Given the description of an element on the screen output the (x, y) to click on. 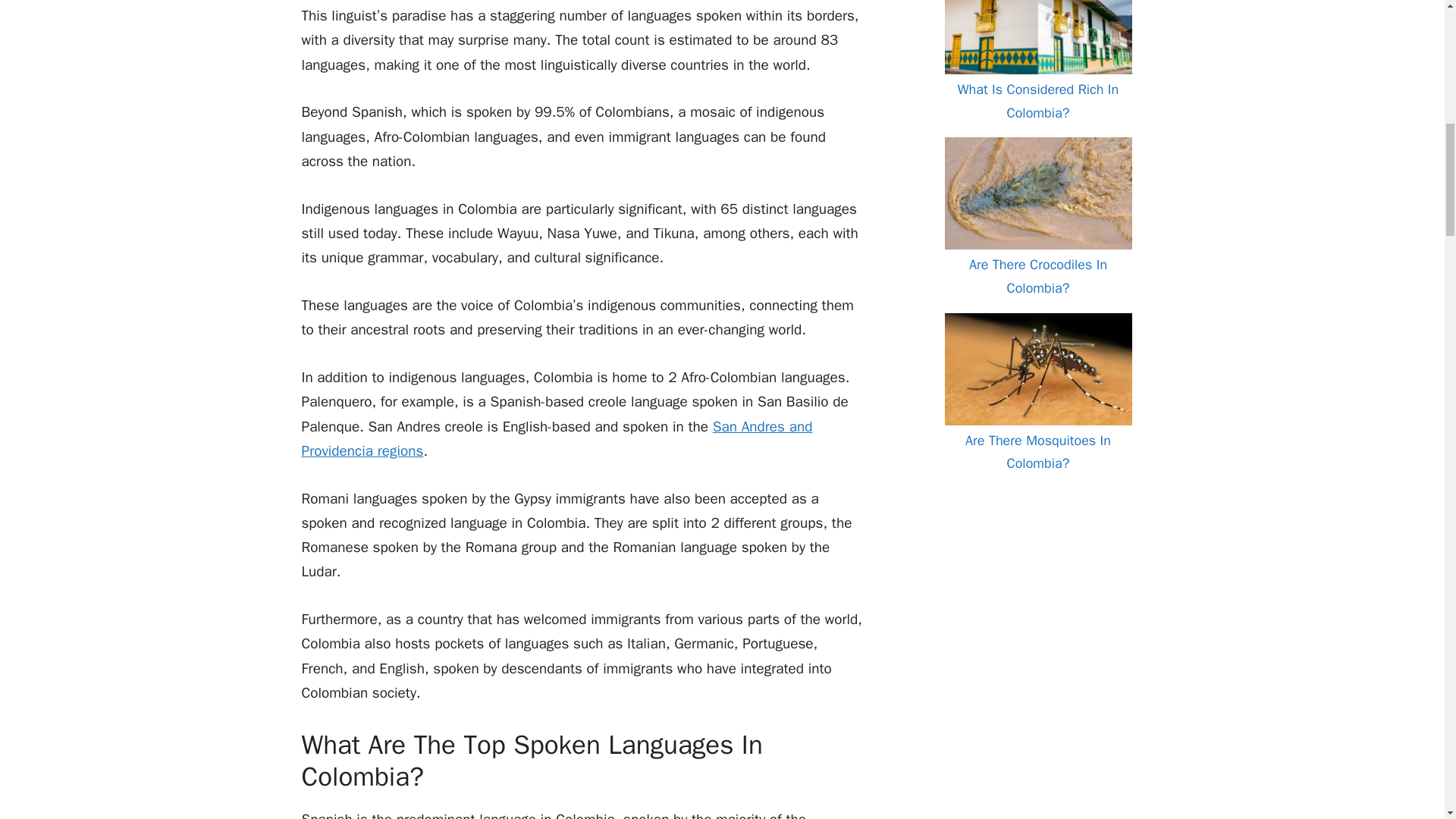
San Andres and Providencia regions (556, 438)
